Given the description of an element on the screen output the (x, y) to click on. 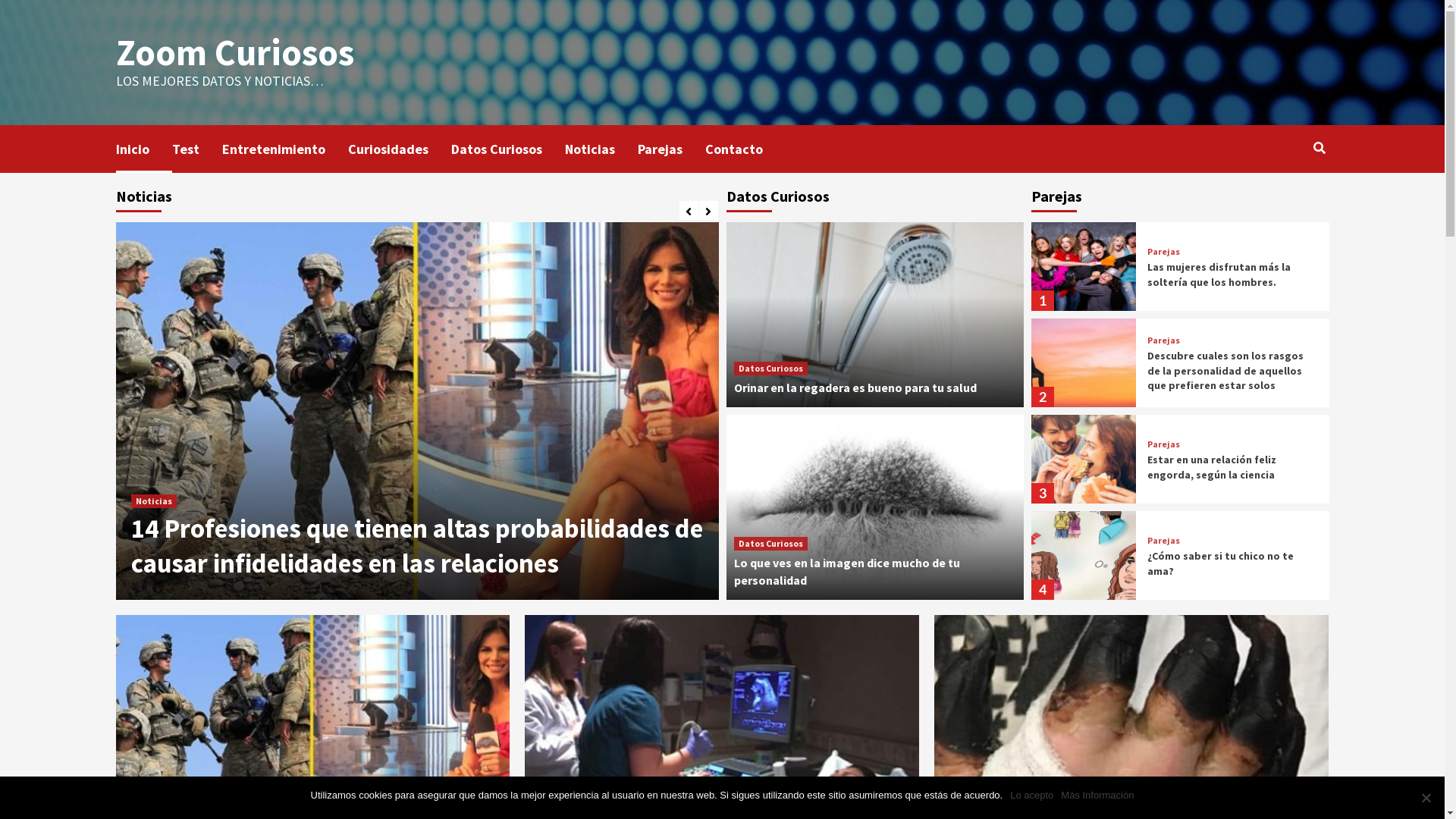
Lo que ves en la imagen dice mucho de tu personalidad Element type: text (847, 570)
Datos Curiosos Element type: text (770, 543)
Curiosidades Element type: text (398, 148)
Contacto Element type: text (745, 148)
Datos Curiosos Element type: text (507, 148)
Datos Curiosos Element type: text (770, 368)
Inicio Element type: text (143, 148)
Parejas Element type: text (670, 148)
Test Element type: text (196, 148)
Zoom Curiosos Element type: text (234, 52)
Parejas Element type: text (1163, 340)
Parejas Element type: text (1163, 251)
Lo acepto Element type: text (1031, 795)
Parejas Element type: text (1163, 540)
Noticias Element type: text (152, 501)
Noticias Element type: text (600, 148)
Search Element type: hover (1319, 147)
Entretenimiento Element type: text (284, 148)
No Element type: hover (1425, 797)
Orinar en la regadera es bueno para tu salud Element type: text (855, 387)
Parejas Element type: text (1163, 443)
Buscar Element type: text (1283, 196)
